Given the description of an element on the screen output the (x, y) to click on. 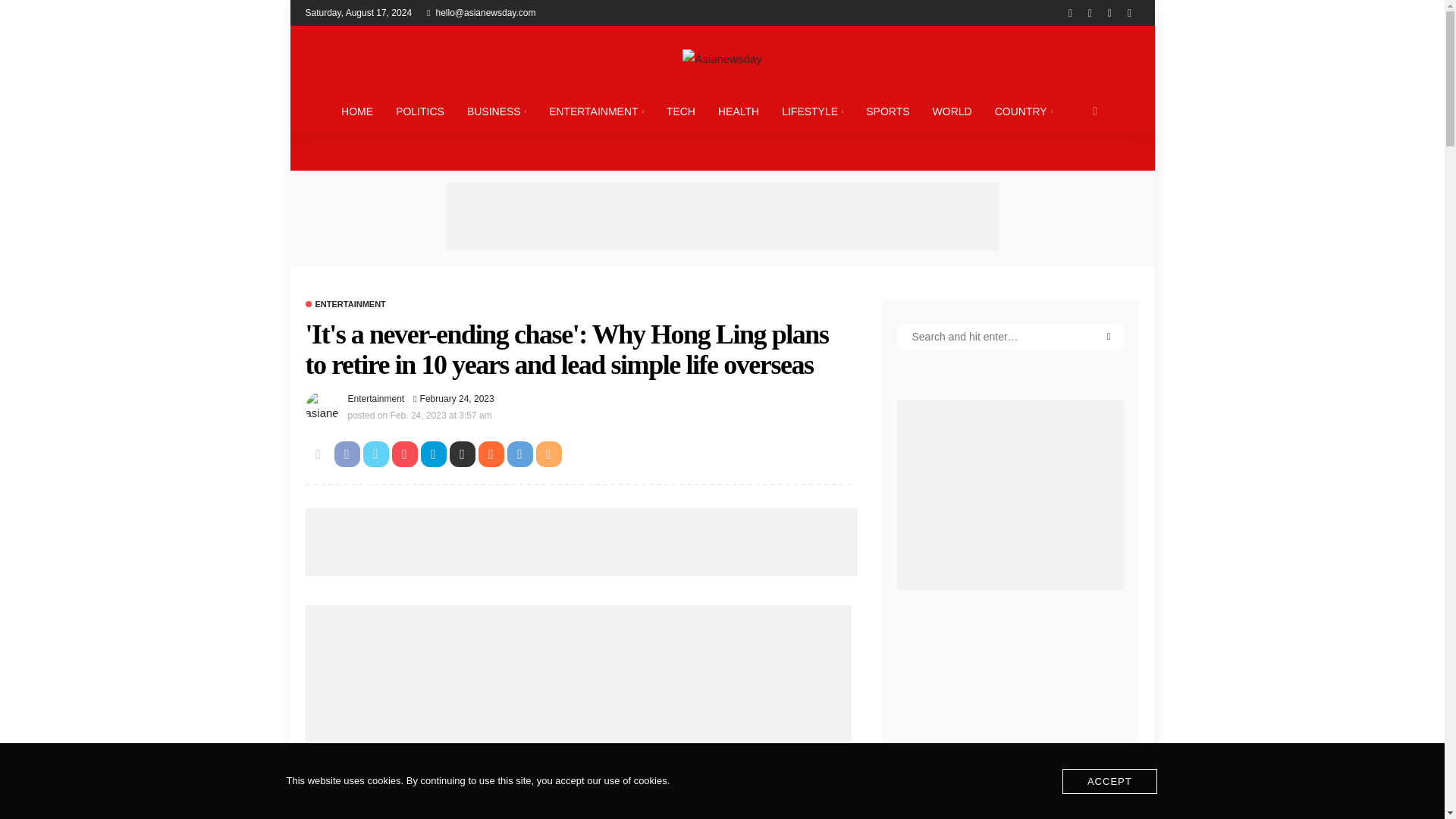
HEALTH (738, 111)
COUNTRY (1024, 111)
SPORTS (887, 111)
ENTERTAINMENT (596, 111)
Asia Newsday (721, 58)
Advertisement (577, 787)
Entertainment (375, 398)
HOME (357, 111)
Advertisement (721, 215)
TECH (680, 111)
